Given the description of an element on the screen output the (x, y) to click on. 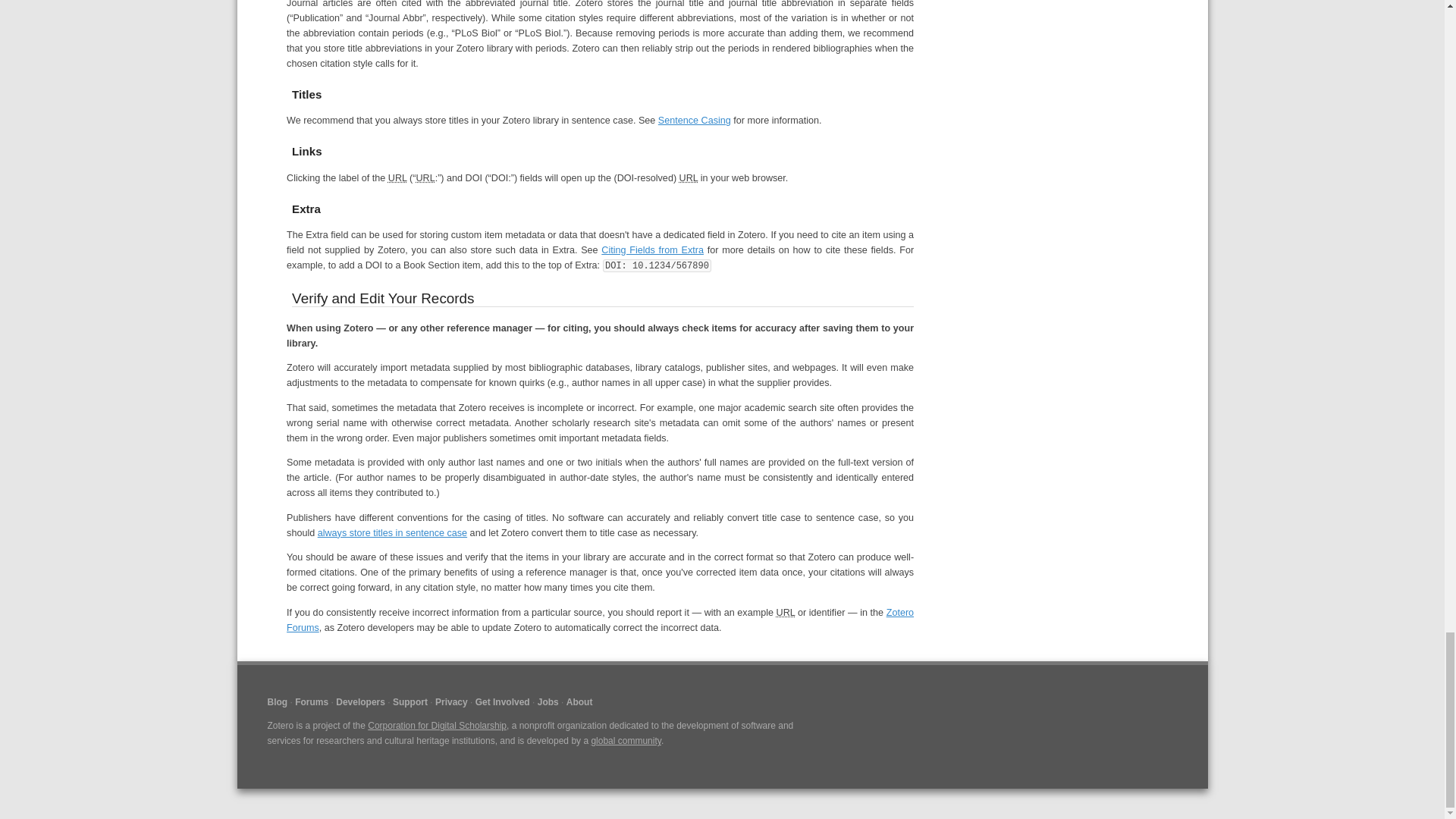
Citing Fields from Extra (652, 249)
always store titles in sentence case (392, 532)
Sentence Casing (694, 120)
Zotero Forums (600, 620)
